Given the description of an element on the screen output the (x, y) to click on. 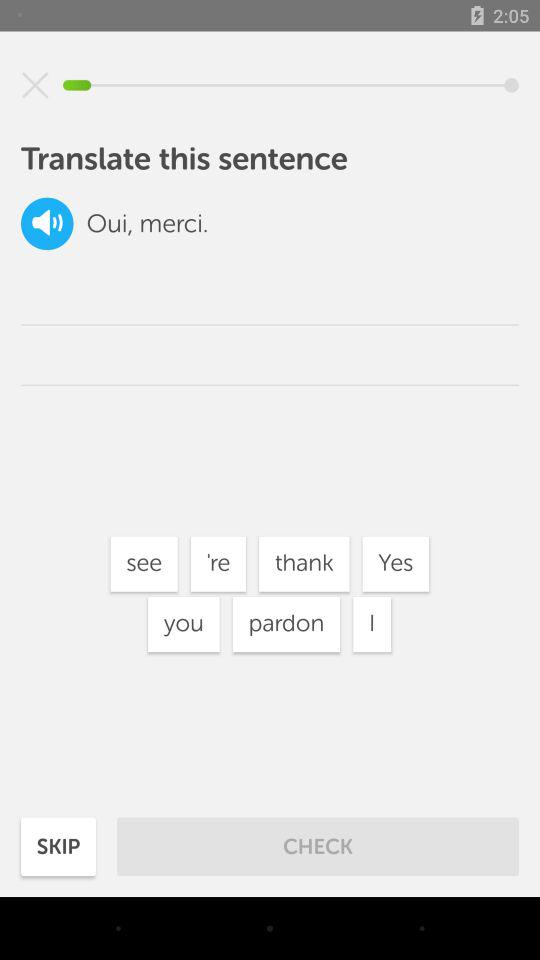
flip until the i icon (372, 624)
